Given the description of an element on the screen output the (x, y) to click on. 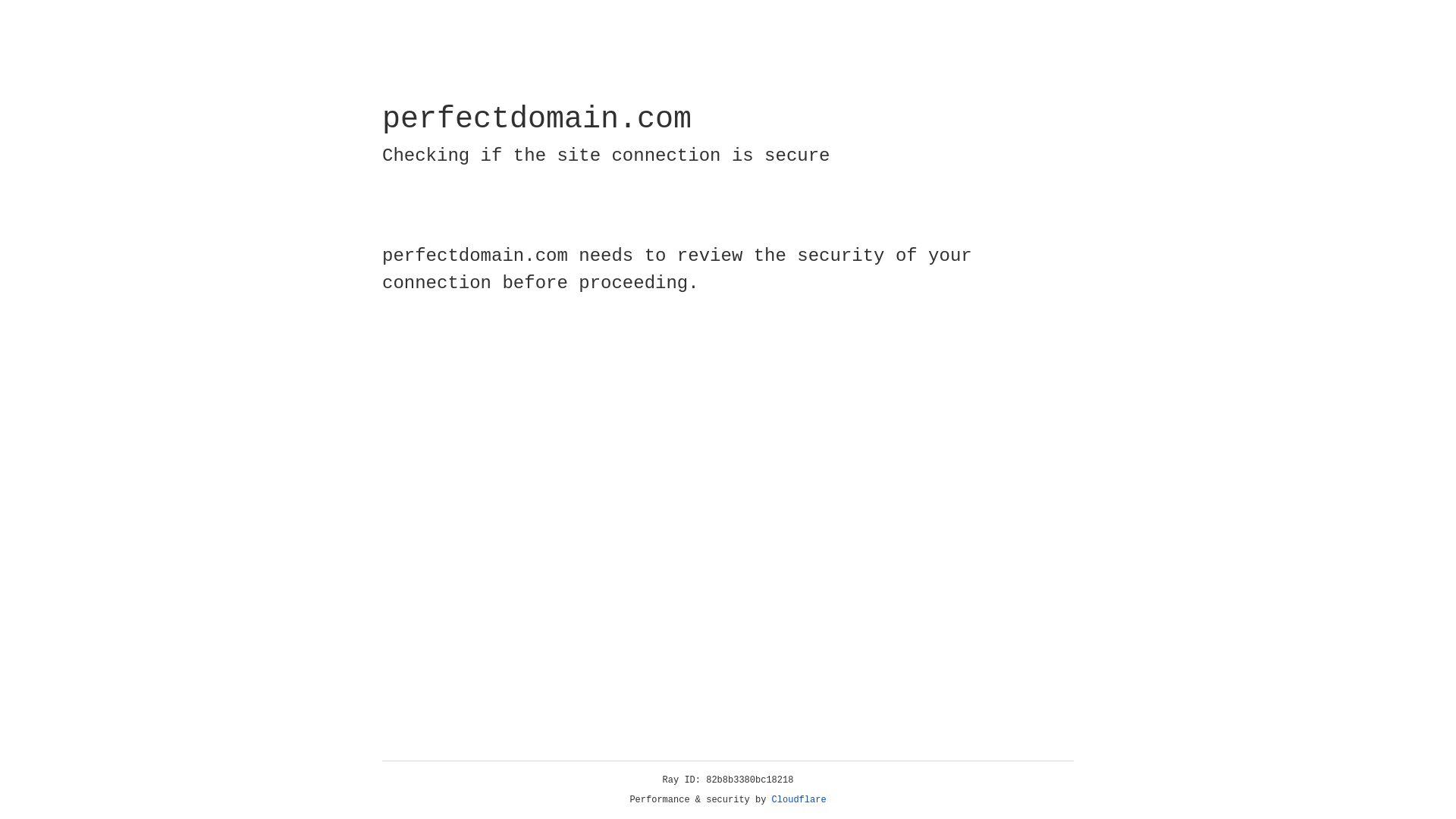
Cloudflare Element type: text (798, 799)
